Given the description of an element on the screen output the (x, y) to click on. 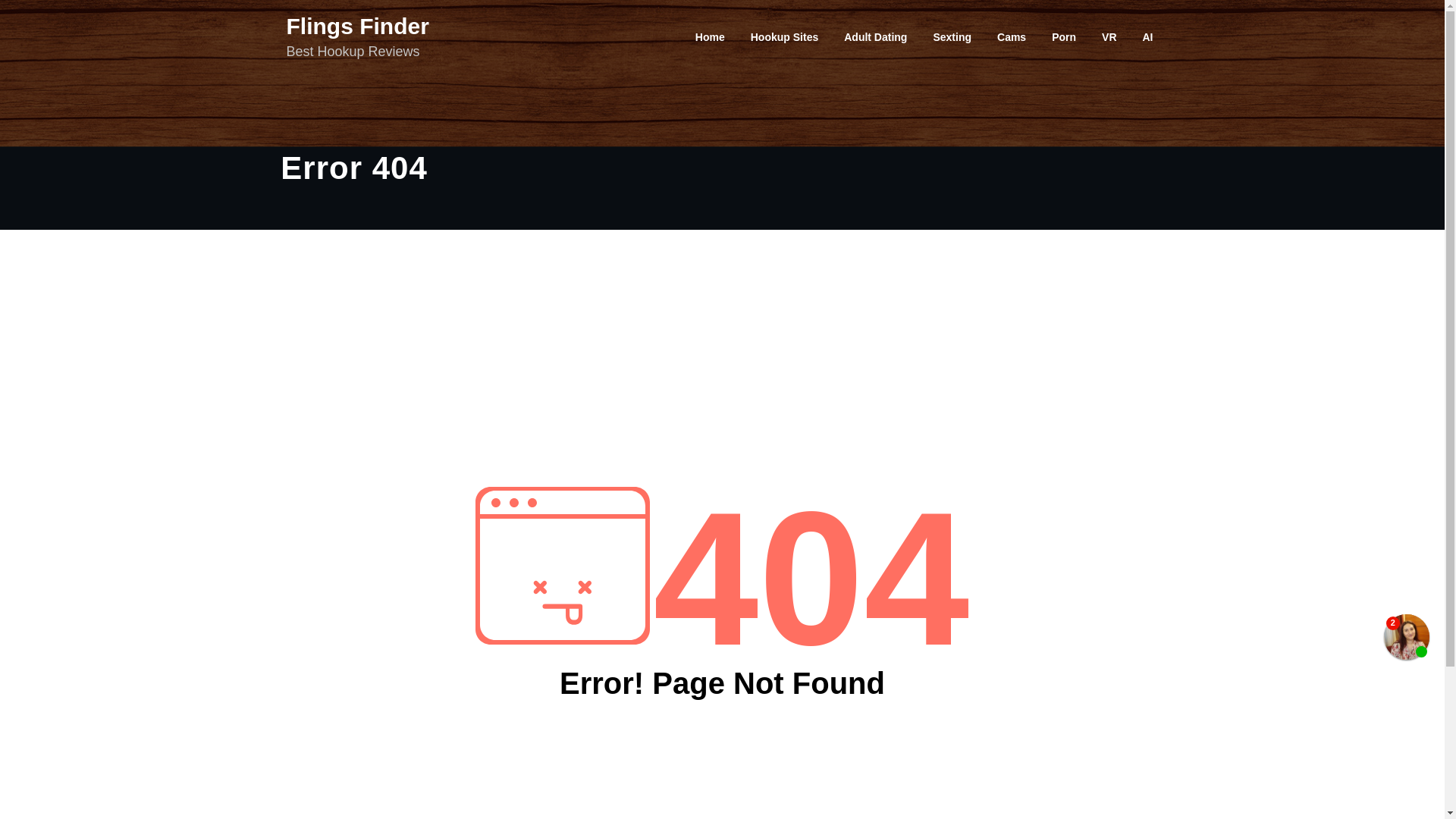
Porn (1063, 36)
Home (710, 36)
Cams (1011, 36)
Adult Dating (875, 36)
Flings Finder (357, 25)
Hookup Sites (784, 36)
Sexting (952, 36)
